Given the description of an element on the screen output the (x, y) to click on. 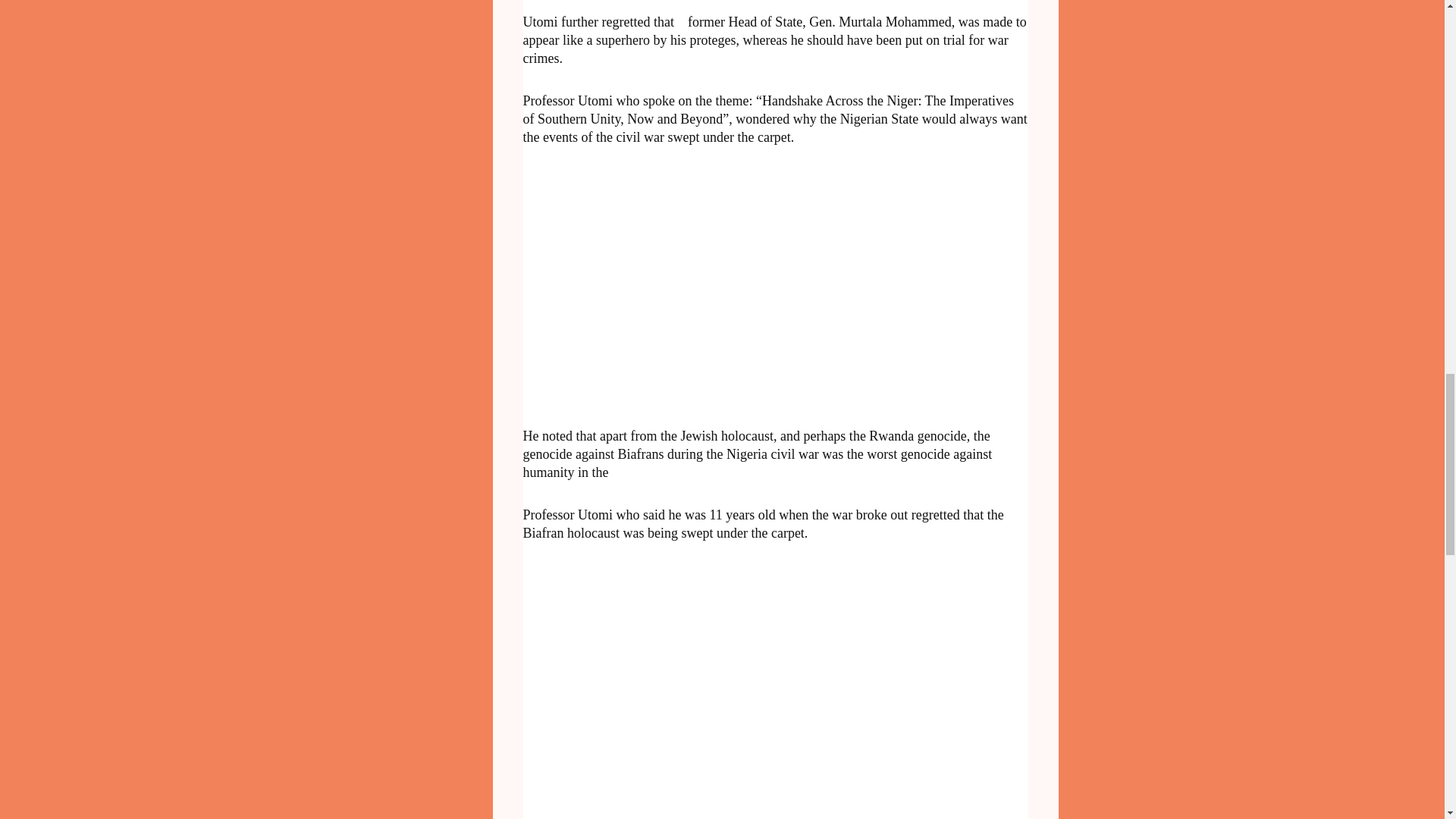
3rd party ad content (666, 284)
3rd party ad content (666, 679)
